Given the description of an element on the screen output the (x, y) to click on. 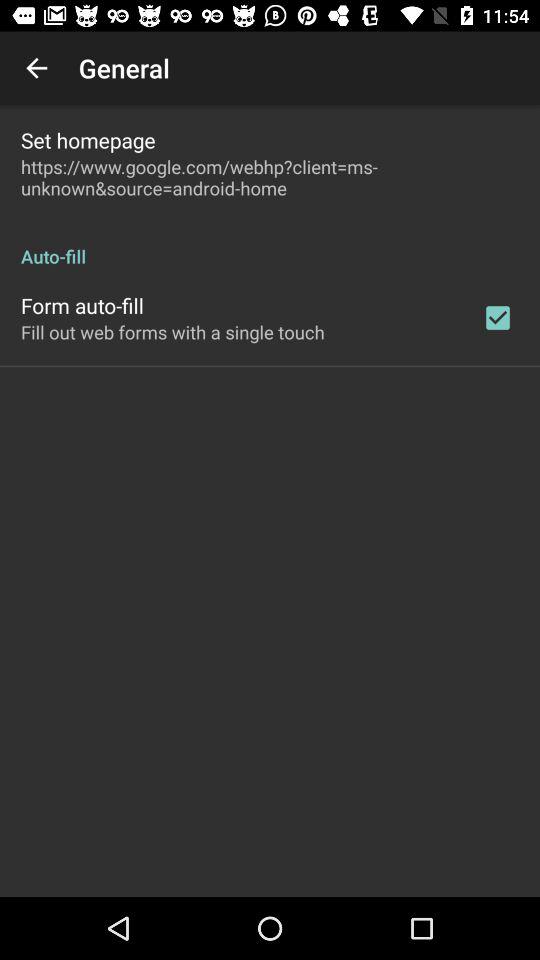
launch https www google icon (270, 177)
